Given the description of an element on the screen output the (x, y) to click on. 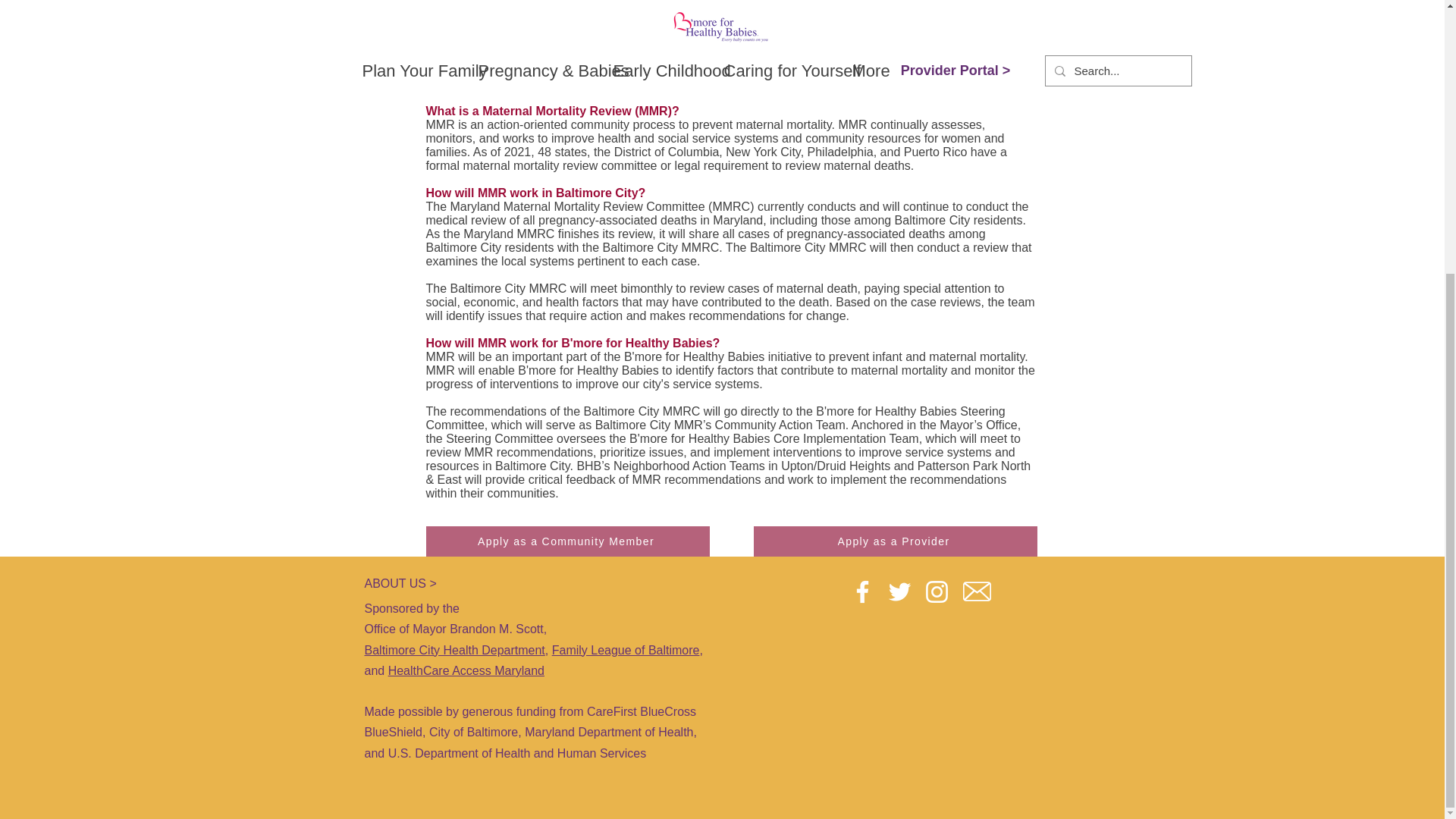
Family League of Baltimore (625, 649)
Apply as a Provider (895, 541)
Apply as a Community Member (568, 541)
Baltimore City Health Department (454, 649)
HealthCare Access Maryland (466, 670)
